Given the description of an element on the screen output the (x, y) to click on. 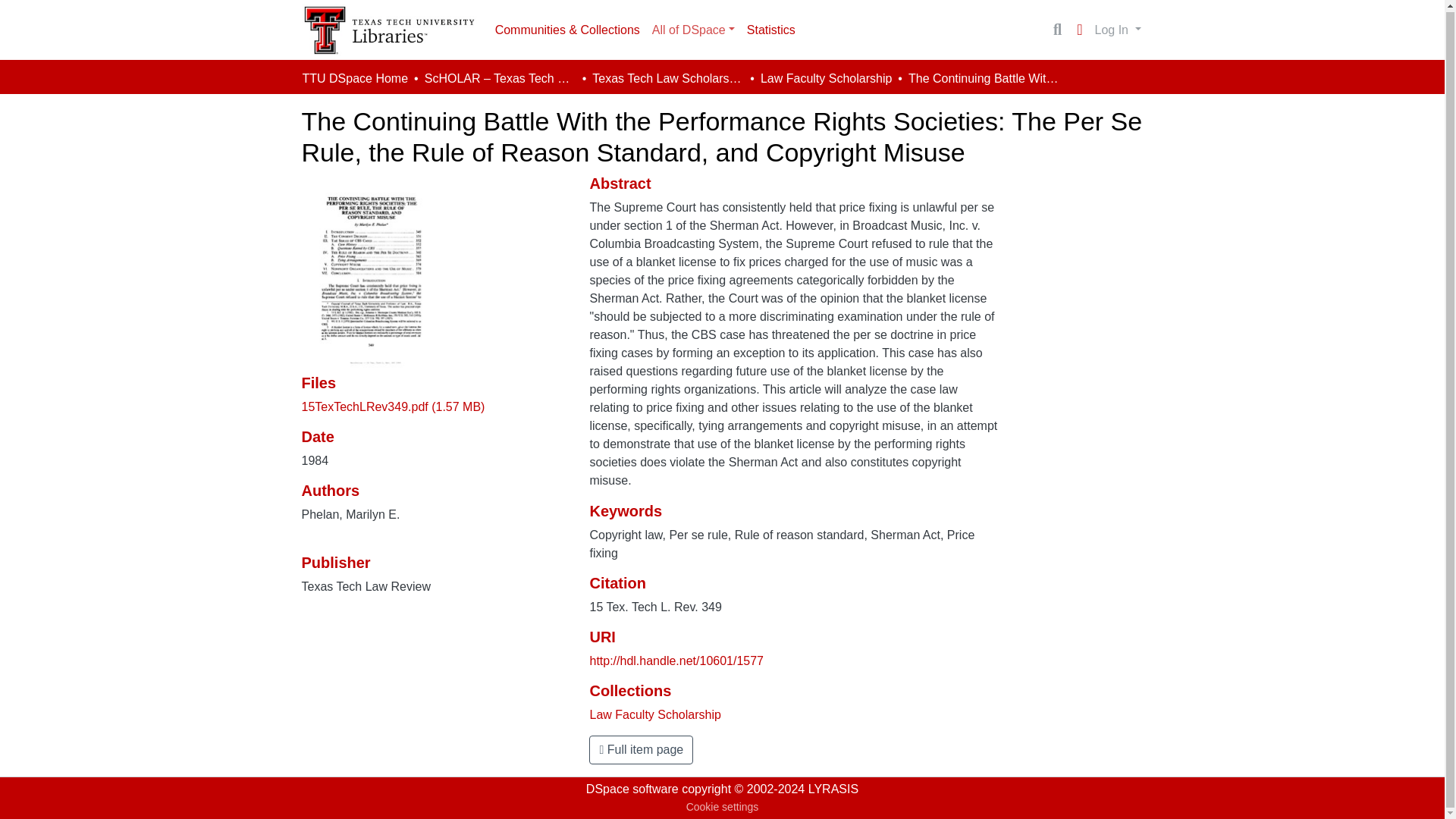
Log In (1117, 30)
Full item page (641, 749)
DSpace software (632, 788)
LYRASIS (833, 788)
TTU DSpace Home (354, 78)
Law Faculty Scholarship (654, 714)
Texas Tech Law Scholarship (668, 78)
Search (1057, 29)
Law Faculty Scholarship (825, 78)
Statistics (771, 29)
Language switch (1079, 29)
All of DSpace (693, 29)
Statistics (771, 29)
Cookie settings (722, 806)
